Given the description of an element on the screen output the (x, y) to click on. 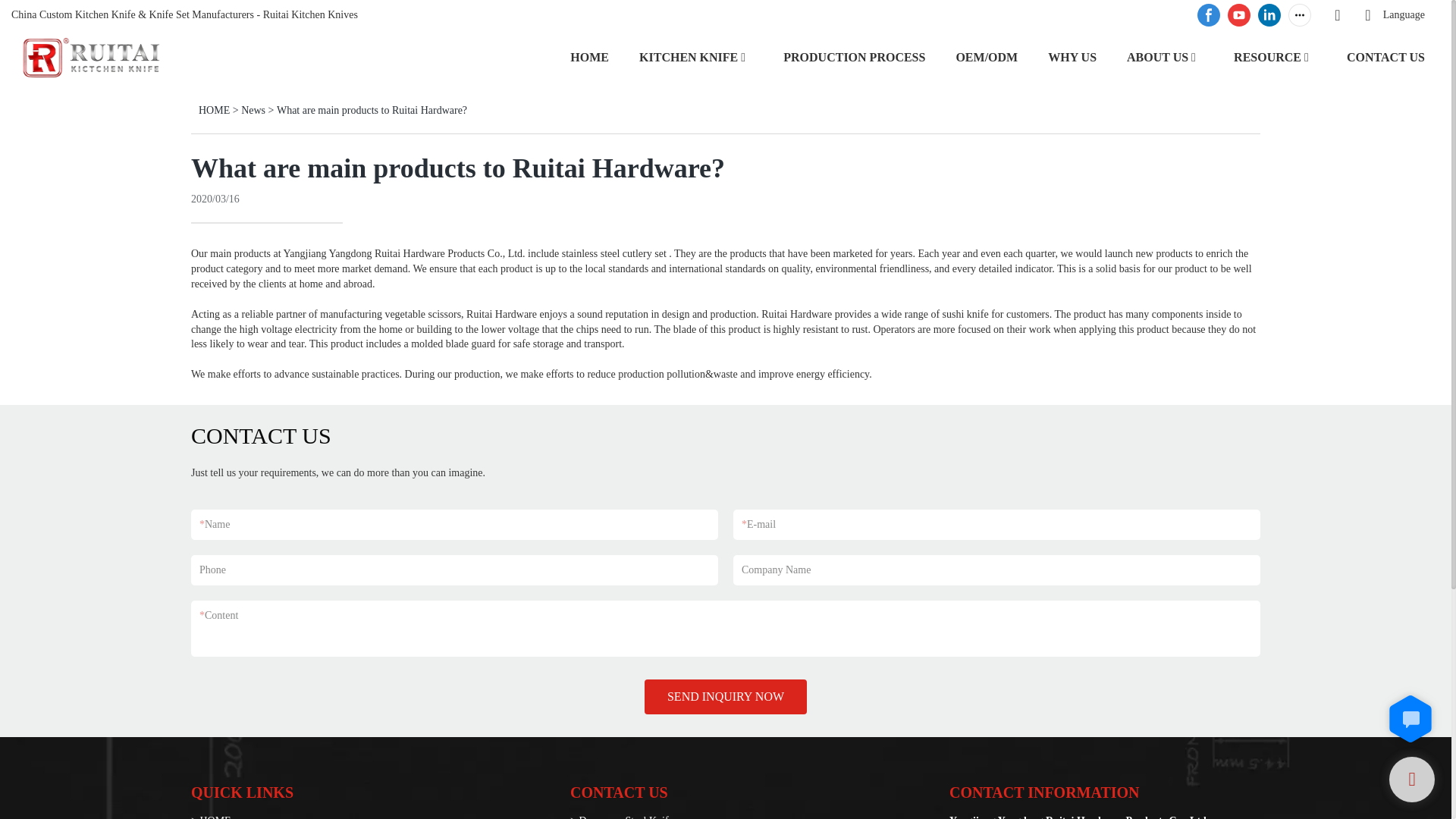
RESOURCE (1267, 56)
facebook (1208, 15)
WHY US (1072, 56)
linkedin (1268, 15)
youtube (1238, 15)
HOME (589, 56)
ABOUT US (1157, 56)
HOME (214, 110)
KITCHEN KNIFE (688, 56)
CONTACT US (1385, 56)
PRODUCTION PROCESS (853, 56)
